Given the description of an element on the screen output the (x, y) to click on. 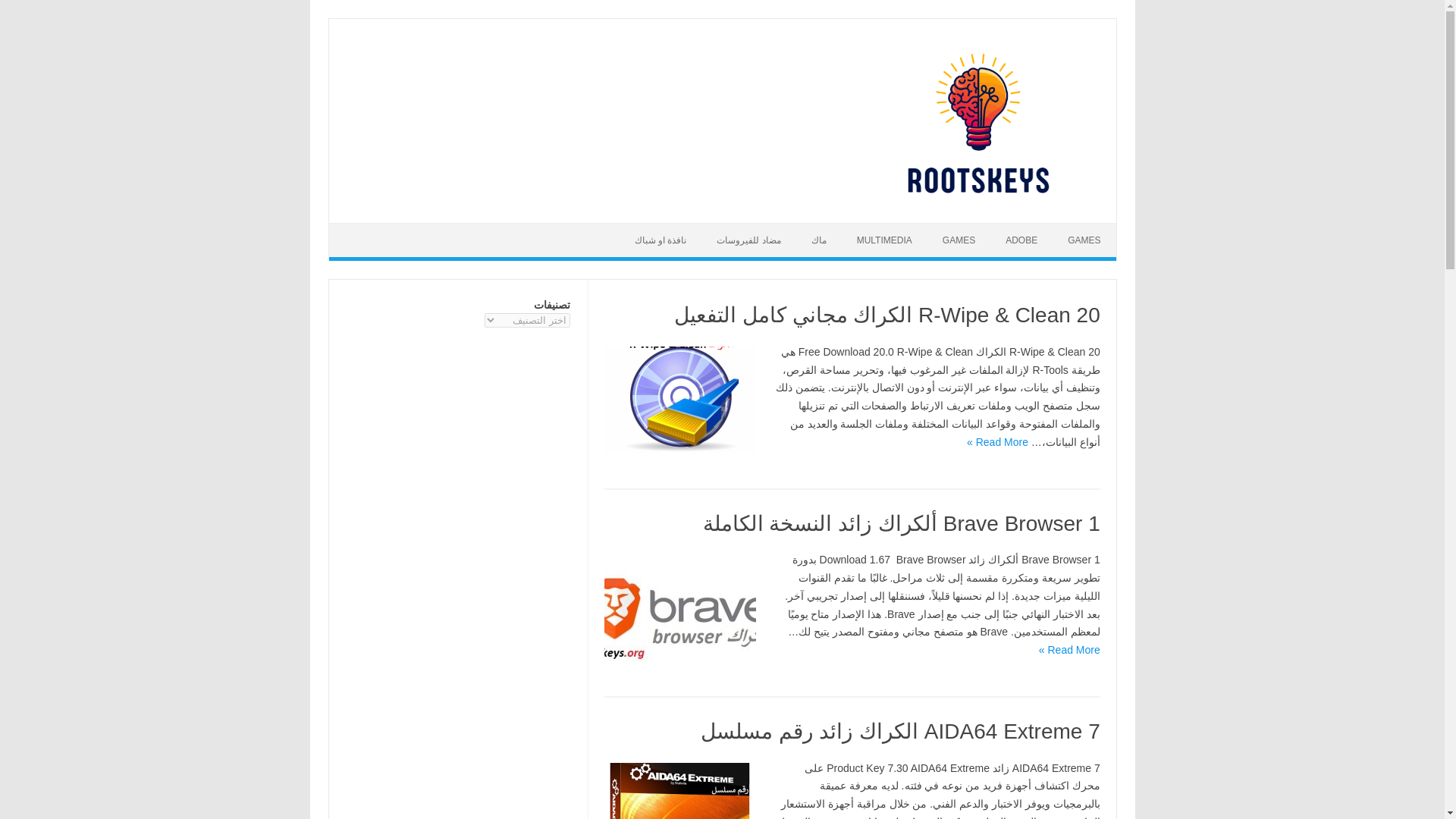
GAMES (958, 240)
RootsKeys (966, 196)
GAMES (1083, 240)
ADOBE (1021, 240)
MULTIMEDIA (884, 240)
